Given the description of an element on the screen output the (x, y) to click on. 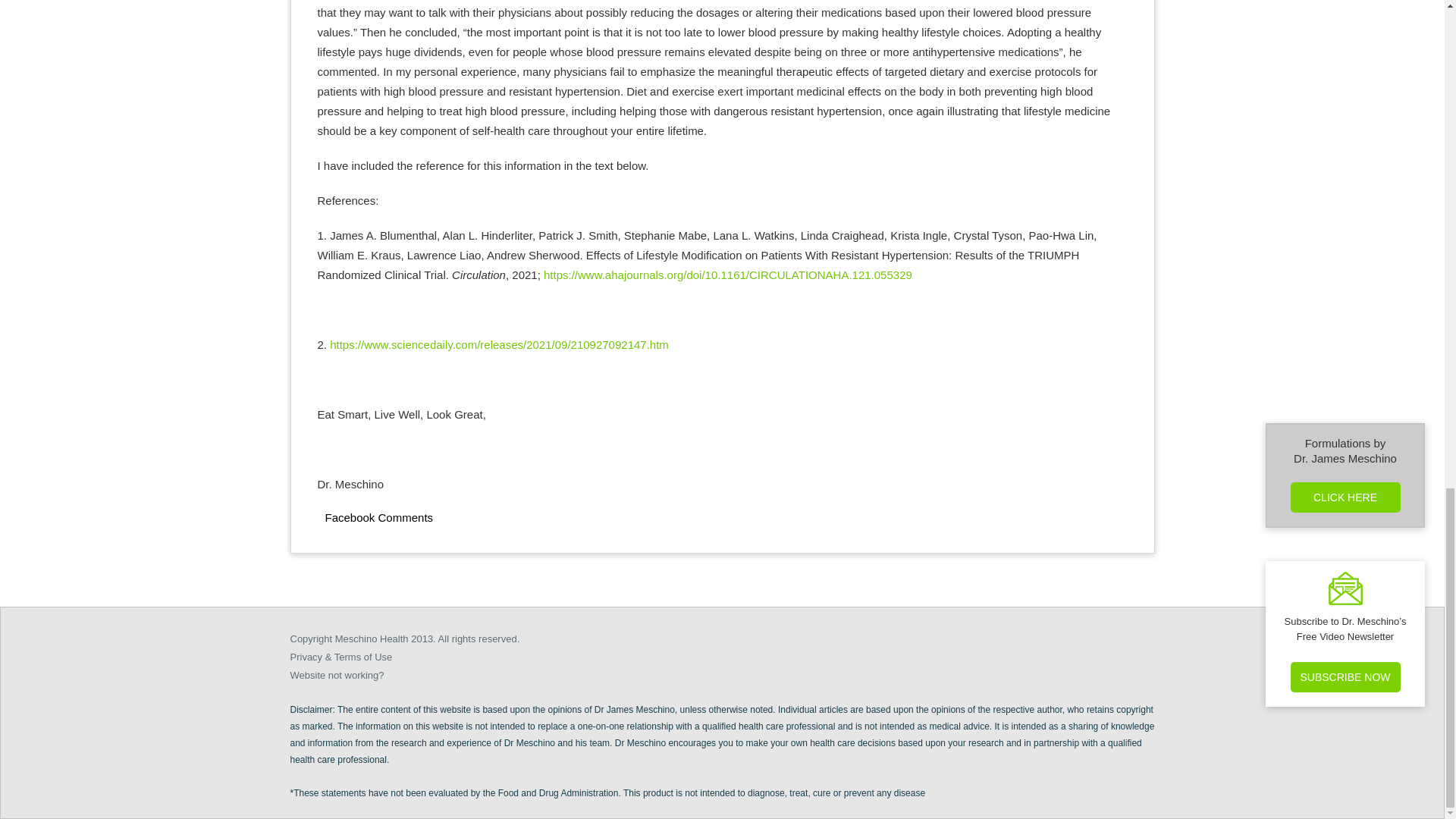
Website not working? (336, 674)
